Given the description of an element on the screen output the (x, y) to click on. 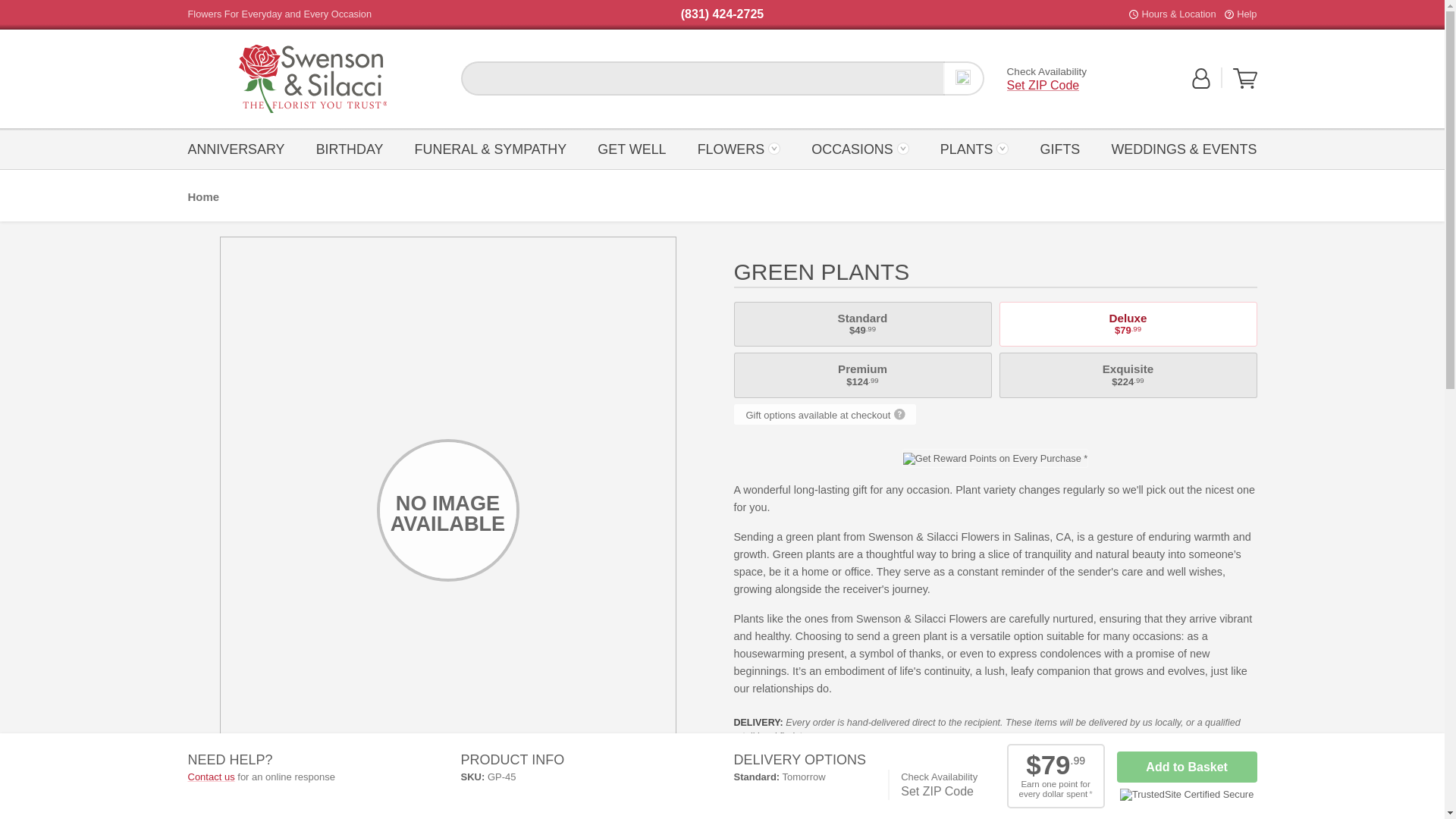
Help (1246, 13)
Set ZIP Code (1043, 85)
View Your Shopping Cart (1245, 78)
View Your Shopping Cart (1245, 85)
FLOWERS (738, 147)
ANNIVERSARY (240, 147)
GET WELL (632, 147)
Back to the Home Page (312, 79)
Search (963, 78)
BIRTHDAY (349, 147)
